Given the description of an element on the screen output the (x, y) to click on. 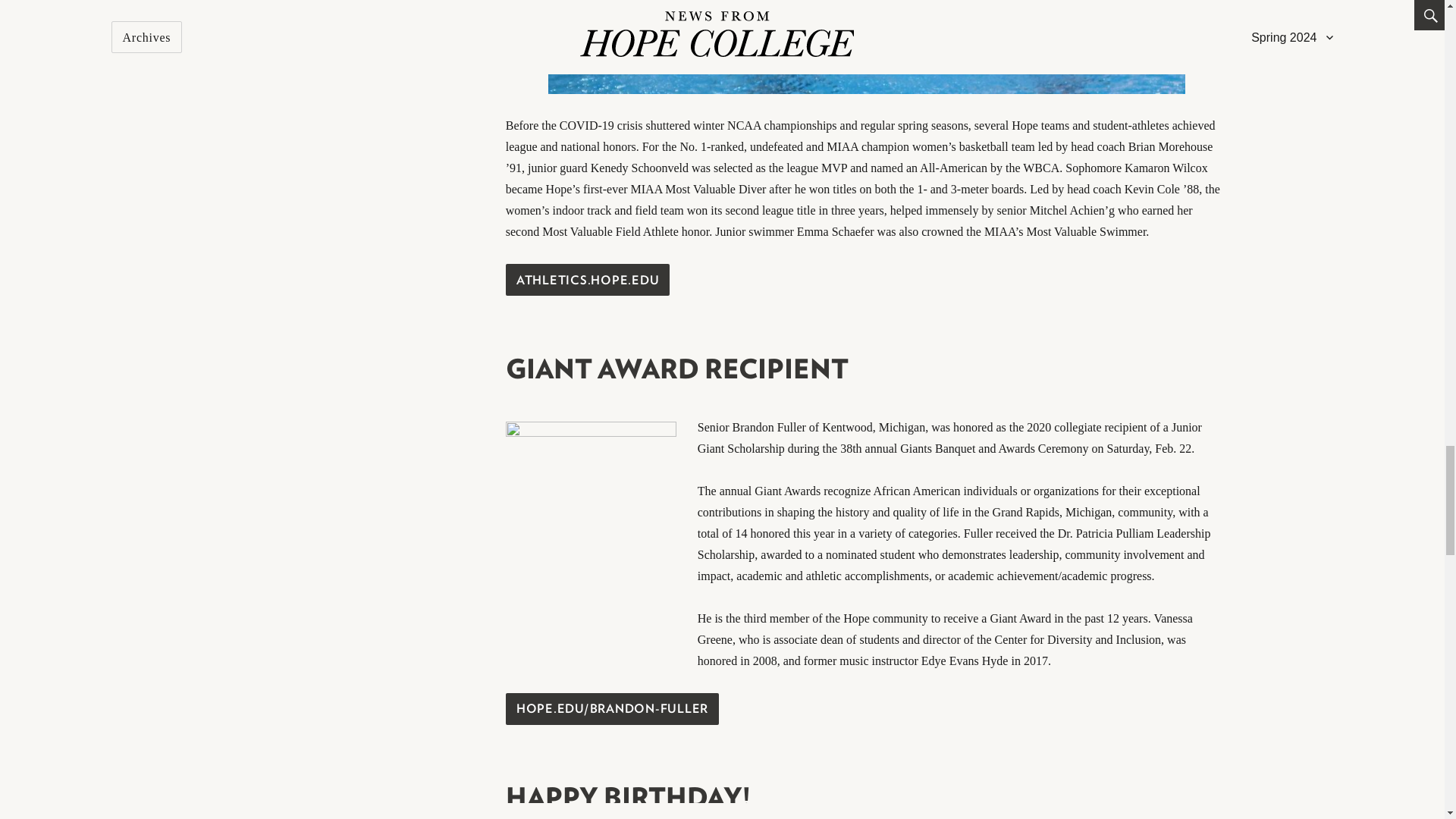
ATHLETICS.HOPE.EDU (587, 279)
